Given the description of an element on the screen output the (x, y) to click on. 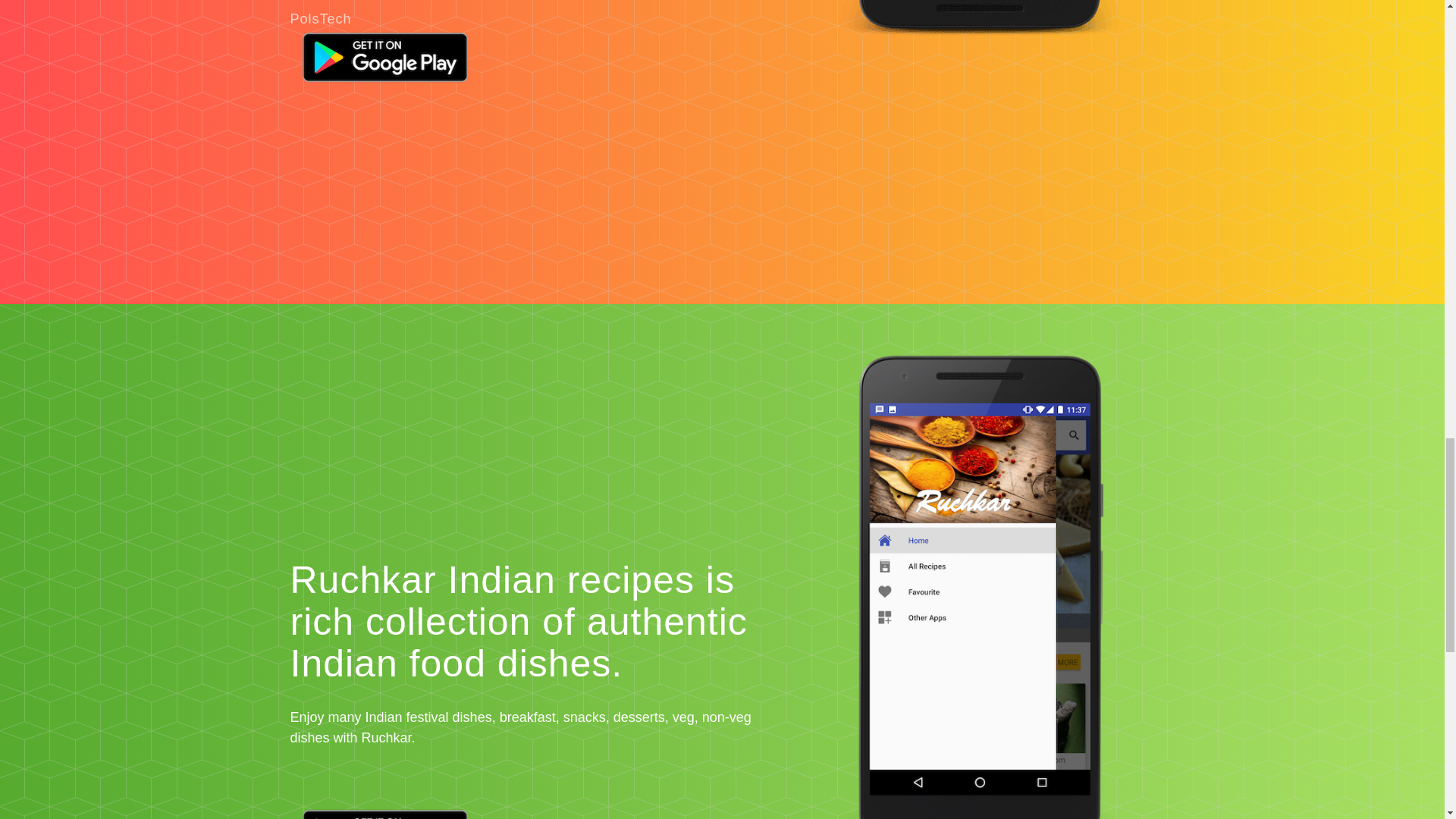
Easy Japanese Learning (981, 39)
